Given the description of an element on the screen output the (x, y) to click on. 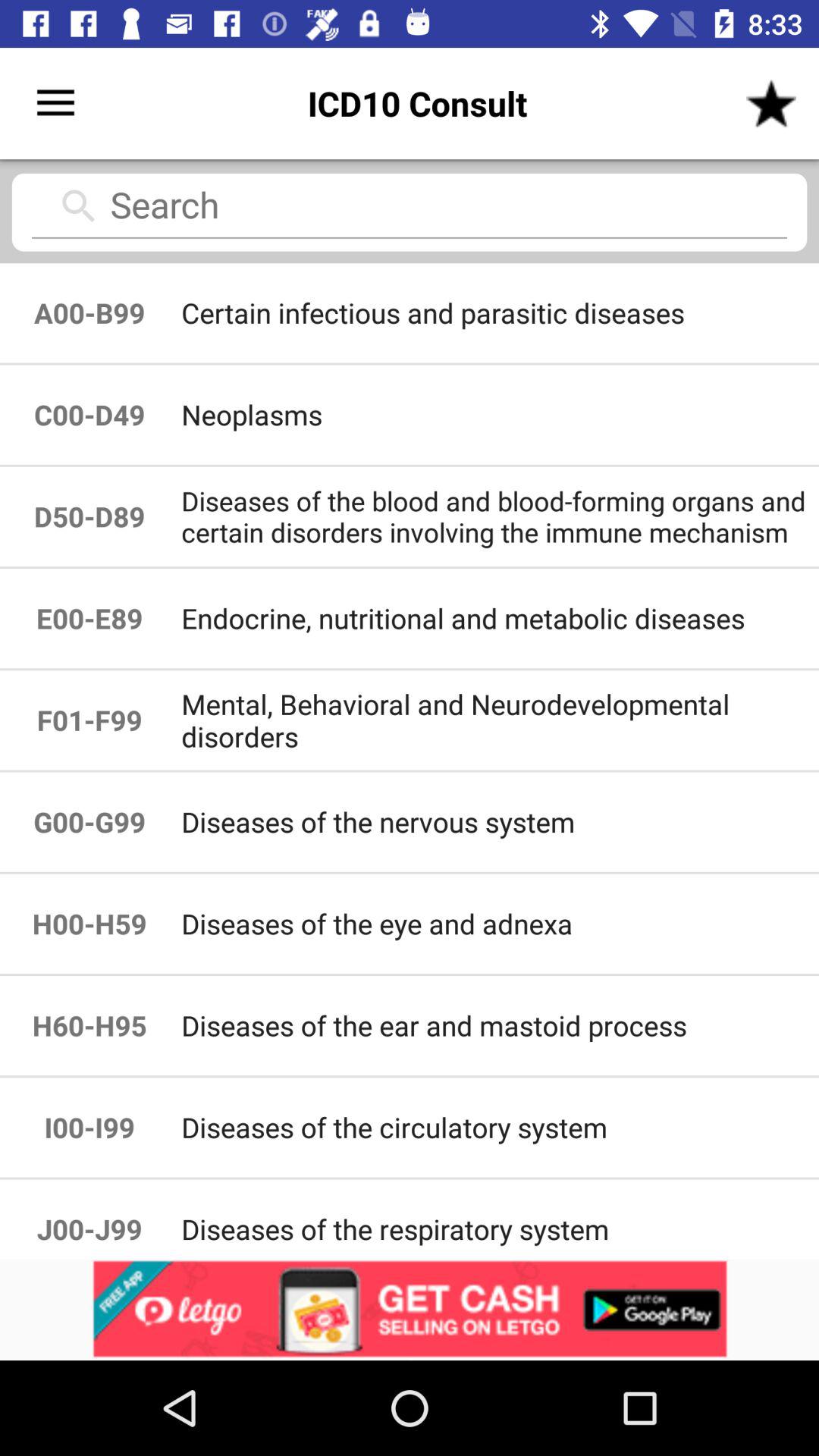
press item above the f01-f99 item (89, 618)
